Given the description of an element on the screen output the (x, y) to click on. 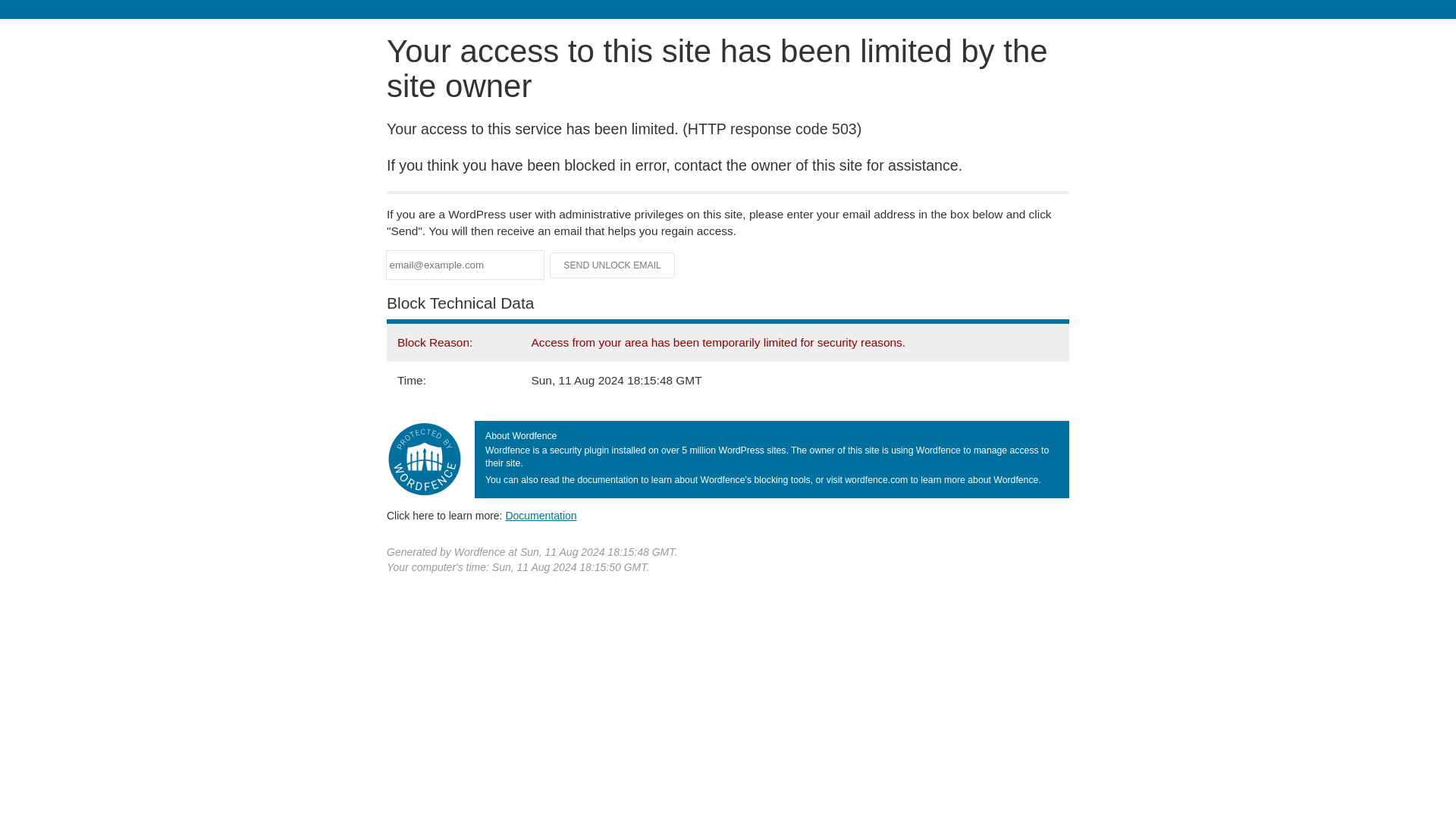
Send Unlock Email (612, 265)
Documentation (540, 515)
Send Unlock Email (612, 265)
